Given the description of an element on the screen output the (x, y) to click on. 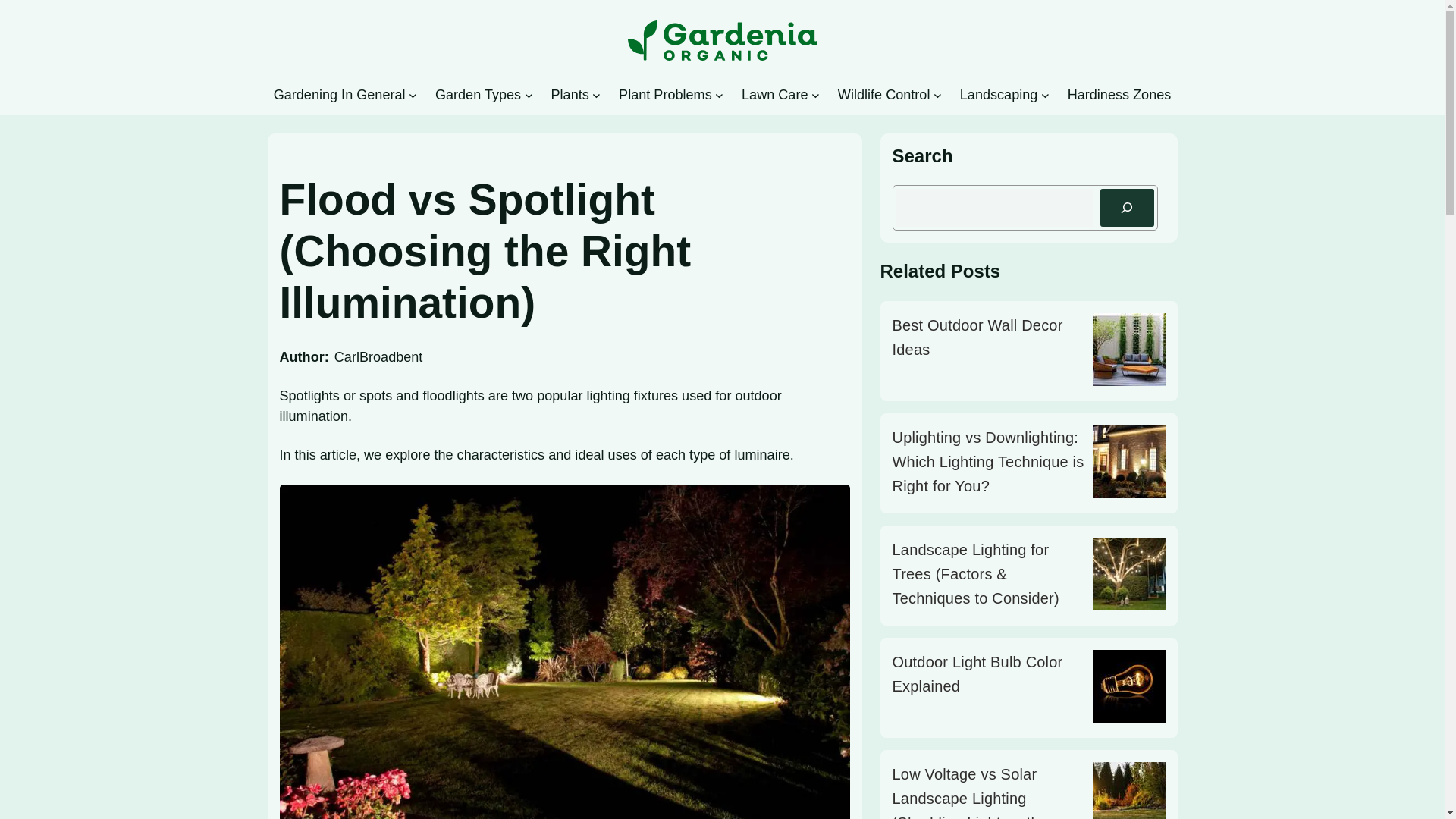
Lawn Care (774, 94)
Plant Problems (664, 94)
Gardening In General (339, 94)
Garden Types (478, 94)
Plants (569, 94)
